Given the description of an element on the screen output the (x, y) to click on. 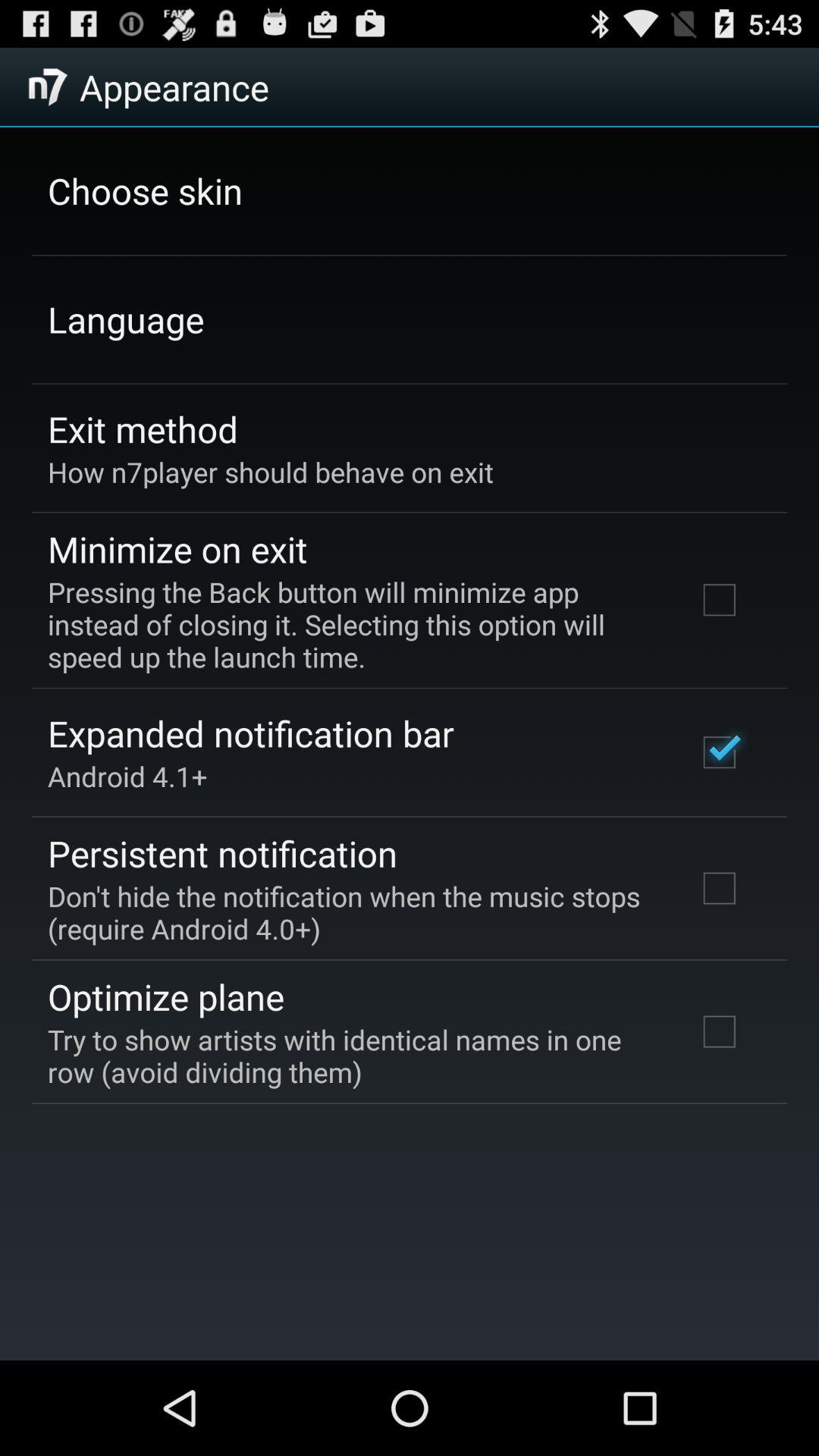
launch the app at the bottom (351, 1055)
